Given the description of an element on the screen output the (x, y) to click on. 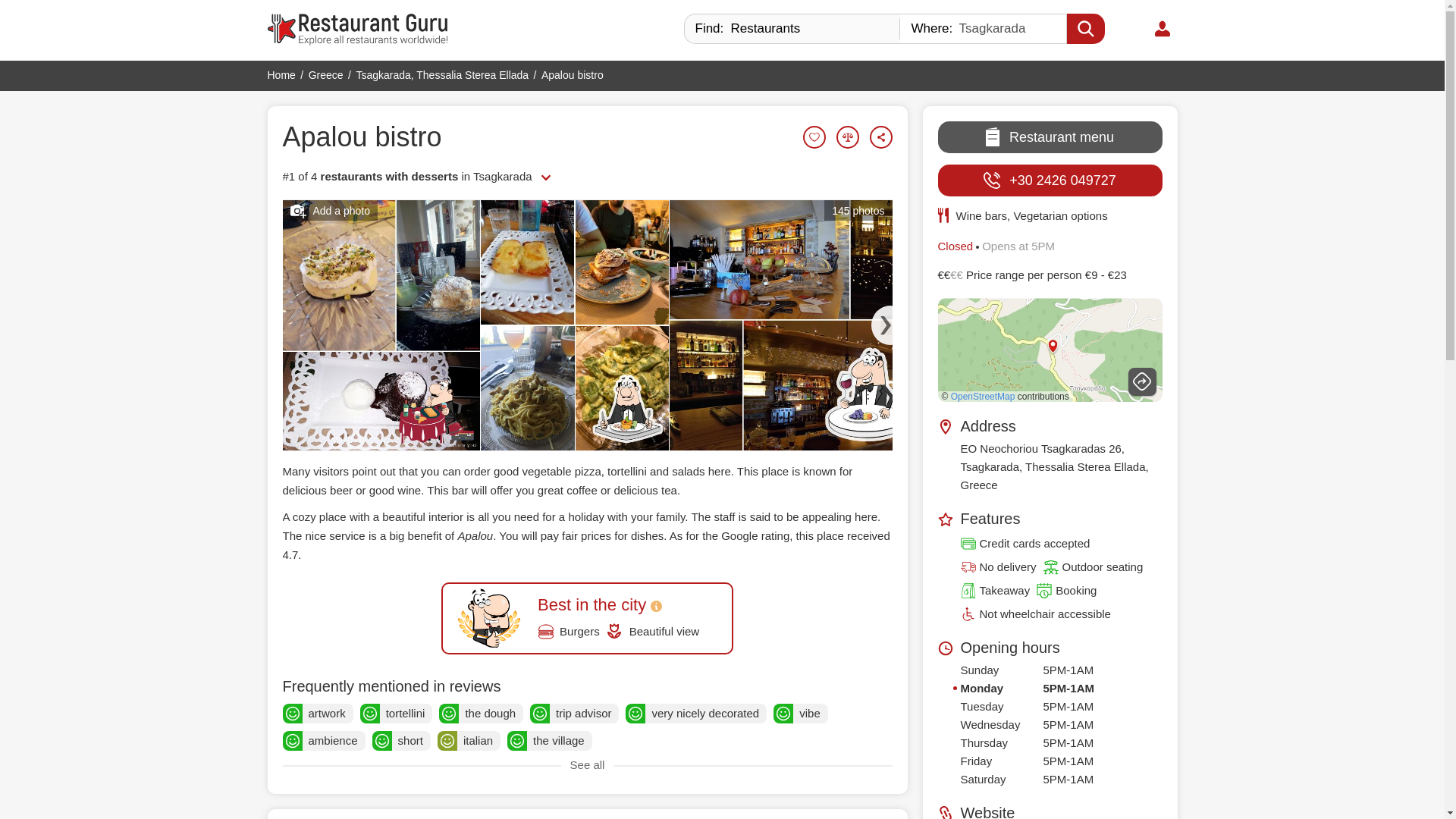
Greece (325, 74)
Restaurants (791, 28)
OpenStreetMap (982, 396)
See all (545, 177)
Tsagkarada (982, 28)
Restaurants (791, 28)
Restaurant menu (1049, 137)
Apalou bistro (361, 136)
Find best restaurants! (356, 29)
Home (280, 74)
Tsagkarada, Thessalia Sterea Ellada (441, 74)
